Given the description of an element on the screen output the (x, y) to click on. 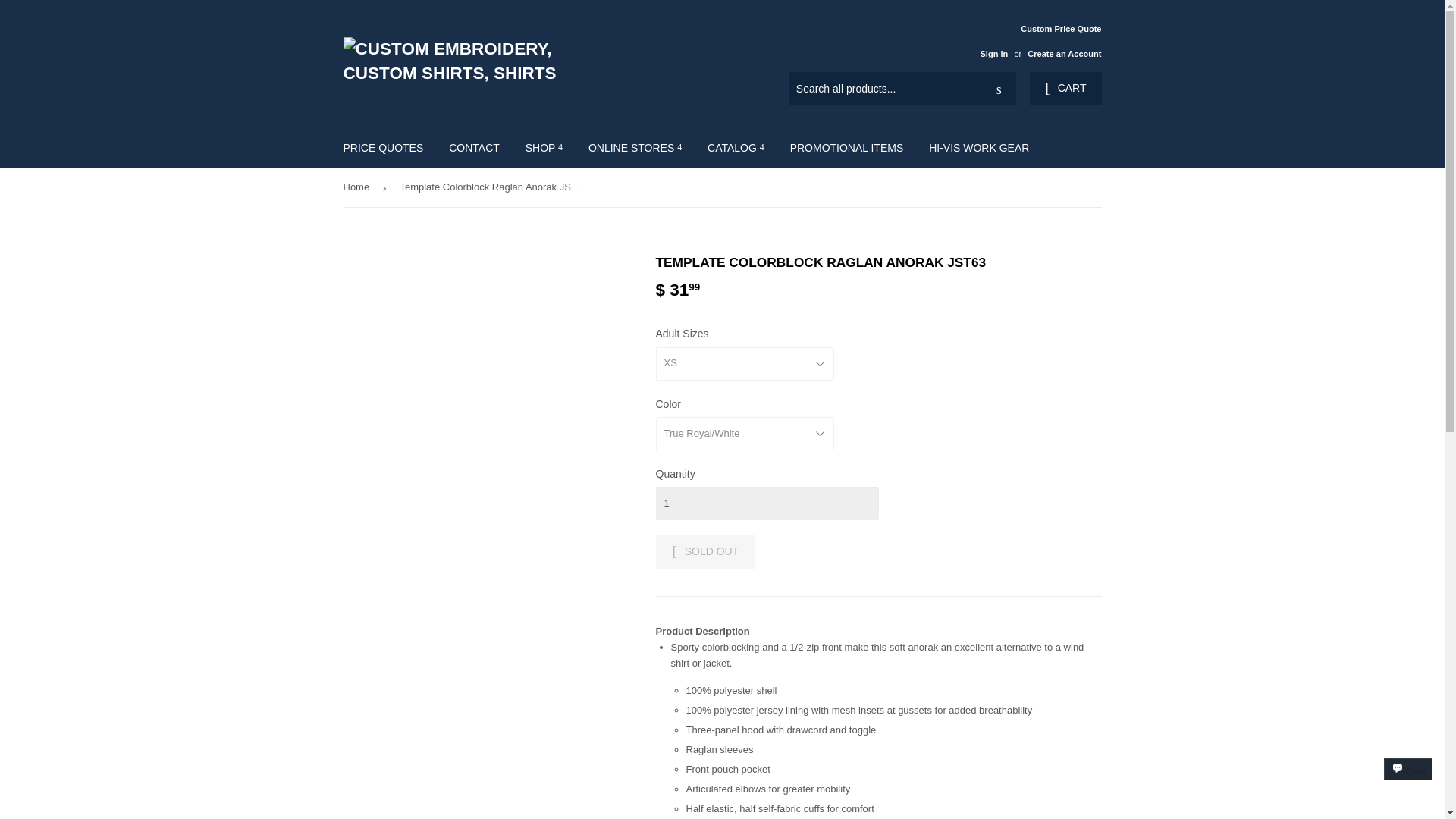
Create an Account (1063, 53)
Custom Price Quote (1034, 40)
CART (1064, 88)
Shopify online store chat (1408, 781)
Search (998, 89)
Sign in (993, 53)
1 (766, 503)
